Given the description of an element on the screen output the (x, y) to click on. 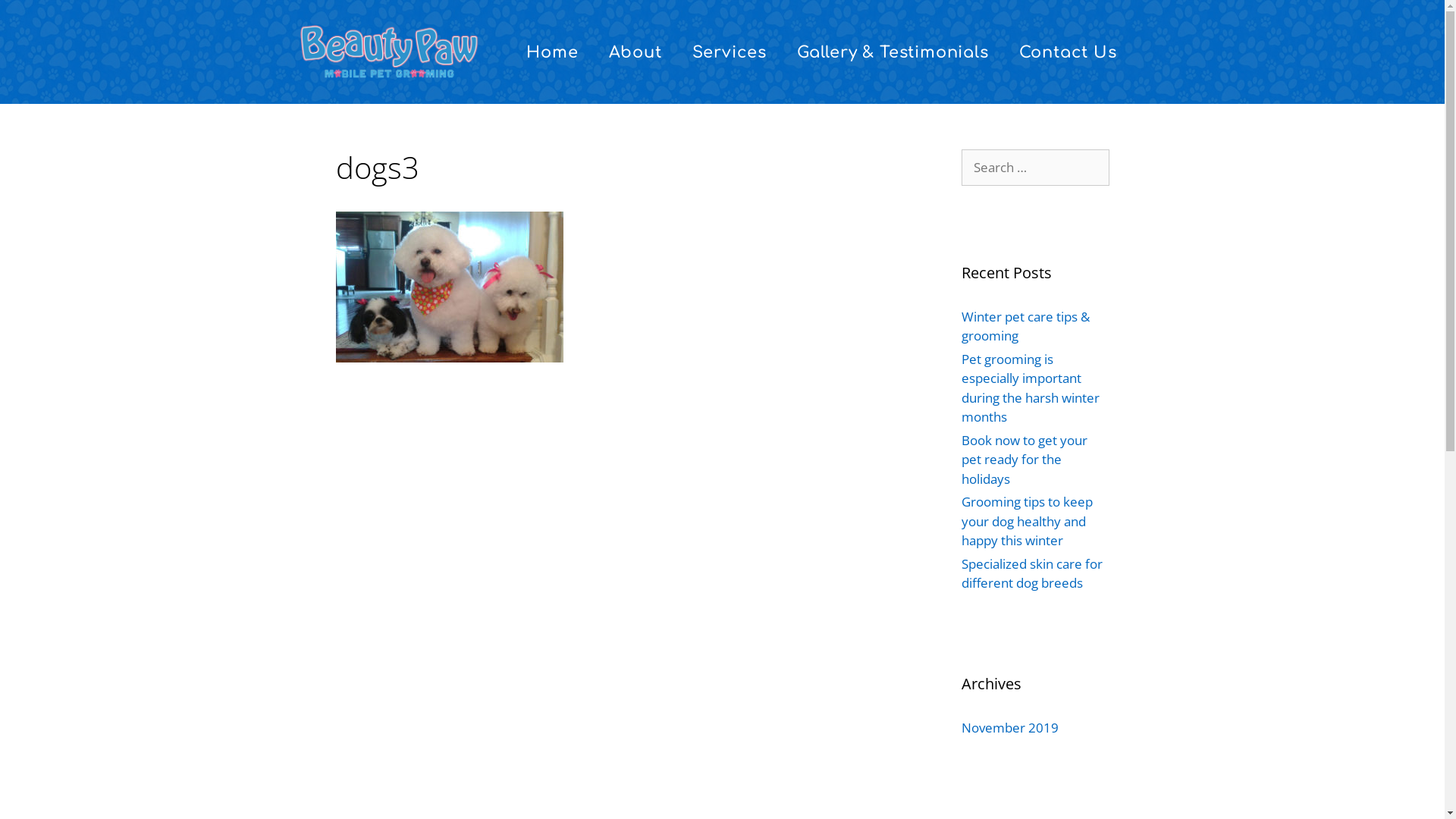
Winter pet care tips & grooming Element type: text (1025, 326)
Contact Us Element type: text (1068, 51)
Search for: Element type: hover (1035, 167)
Grooming tips to keep your dog healthy and happy this winter Element type: text (1026, 520)
Services Element type: text (729, 51)
Book now to get your pet ready for the holidays Element type: text (1024, 459)
November 2019 Element type: text (1009, 727)
Gallery & Testimonials Element type: text (892, 51)
Specialized skin care for different dog breeds Element type: text (1031, 573)
Home Element type: text (552, 51)
About Element type: text (635, 51)
Search Element type: text (36, 18)
